Given the description of an element on the screen output the (x, y) to click on. 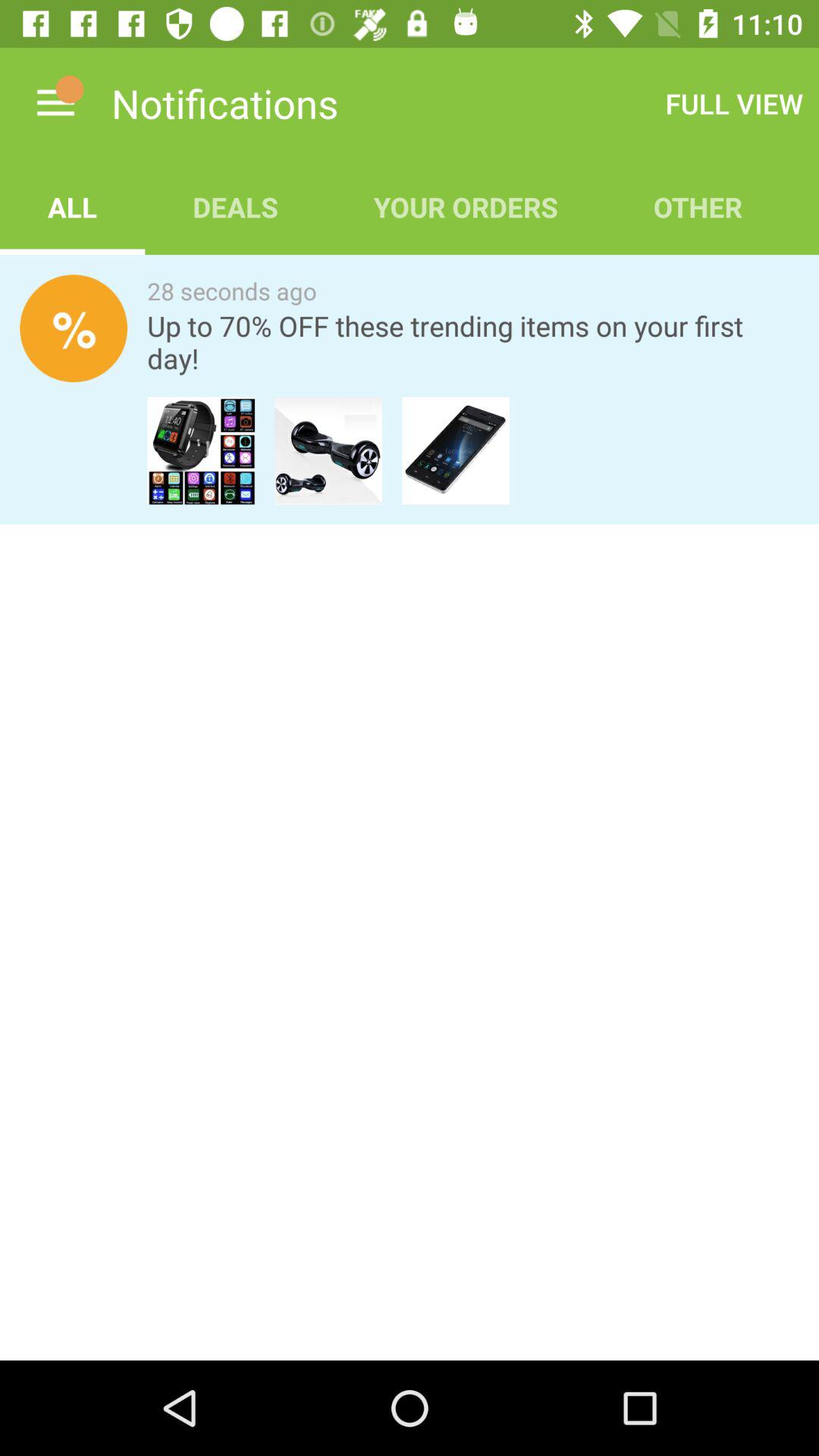
swipe until up to 70 icon (473, 342)
